Given the description of an element on the screen output the (x, y) to click on. 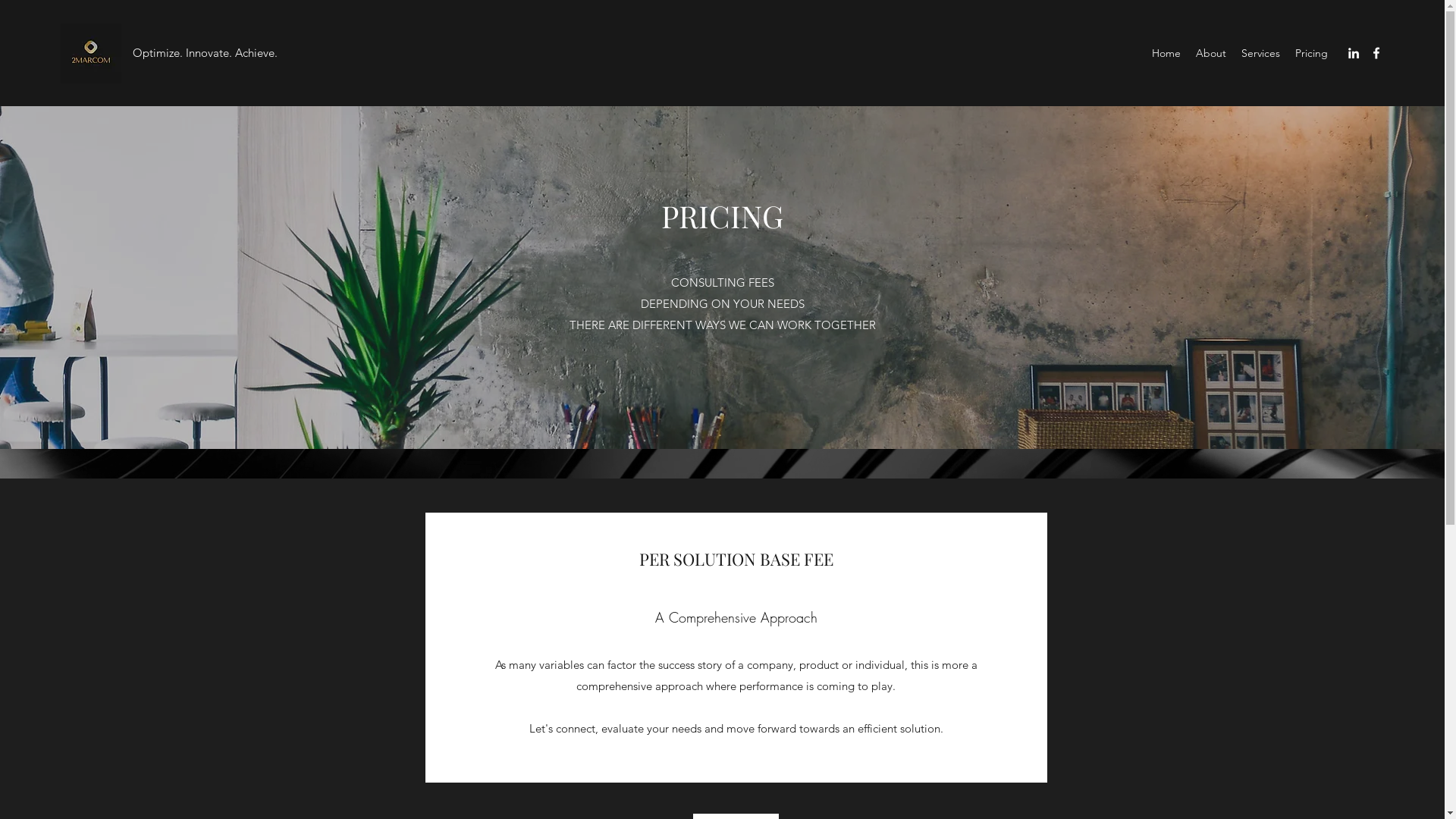
Home Element type: text (1166, 52)
About Element type: text (1210, 52)
Services Element type: text (1260, 52)
Pricing Element type: text (1311, 52)
